Given the description of an element on the screen output the (x, y) to click on. 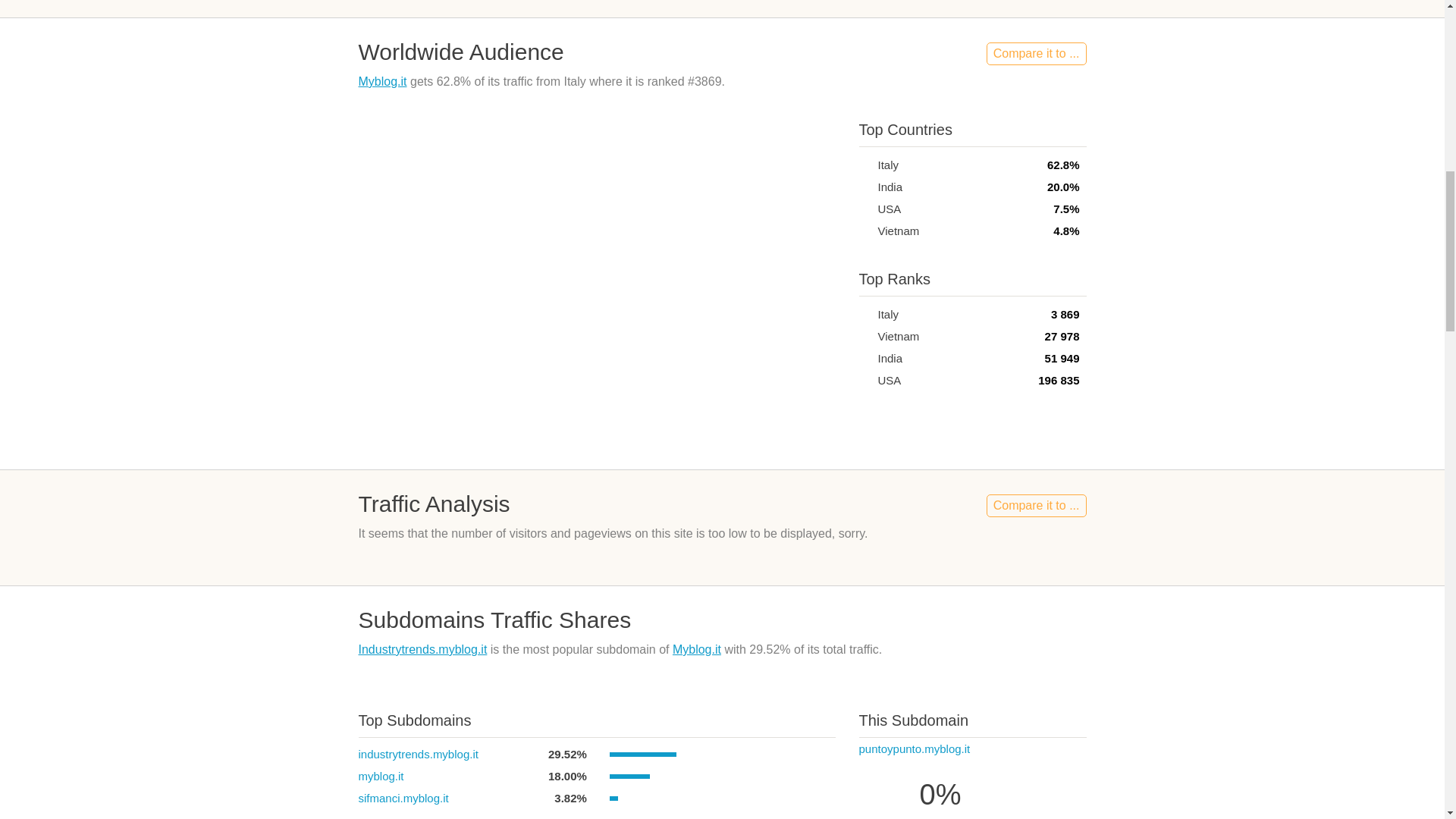
Compare it to ... (1036, 505)
USA (864, 379)
Compare it to ... (1036, 53)
USA (864, 208)
Myblog.it (382, 81)
industrytrends.myblog.it (417, 753)
Italy (864, 164)
Vietnam (864, 336)
puntoypunto.myblog.it (914, 748)
India (864, 186)
Vietnam (864, 230)
Myblog.it (696, 649)
Italy (864, 314)
Industrytrends.myblog.it (422, 649)
India (864, 357)
